Given the description of an element on the screen output the (x, y) to click on. 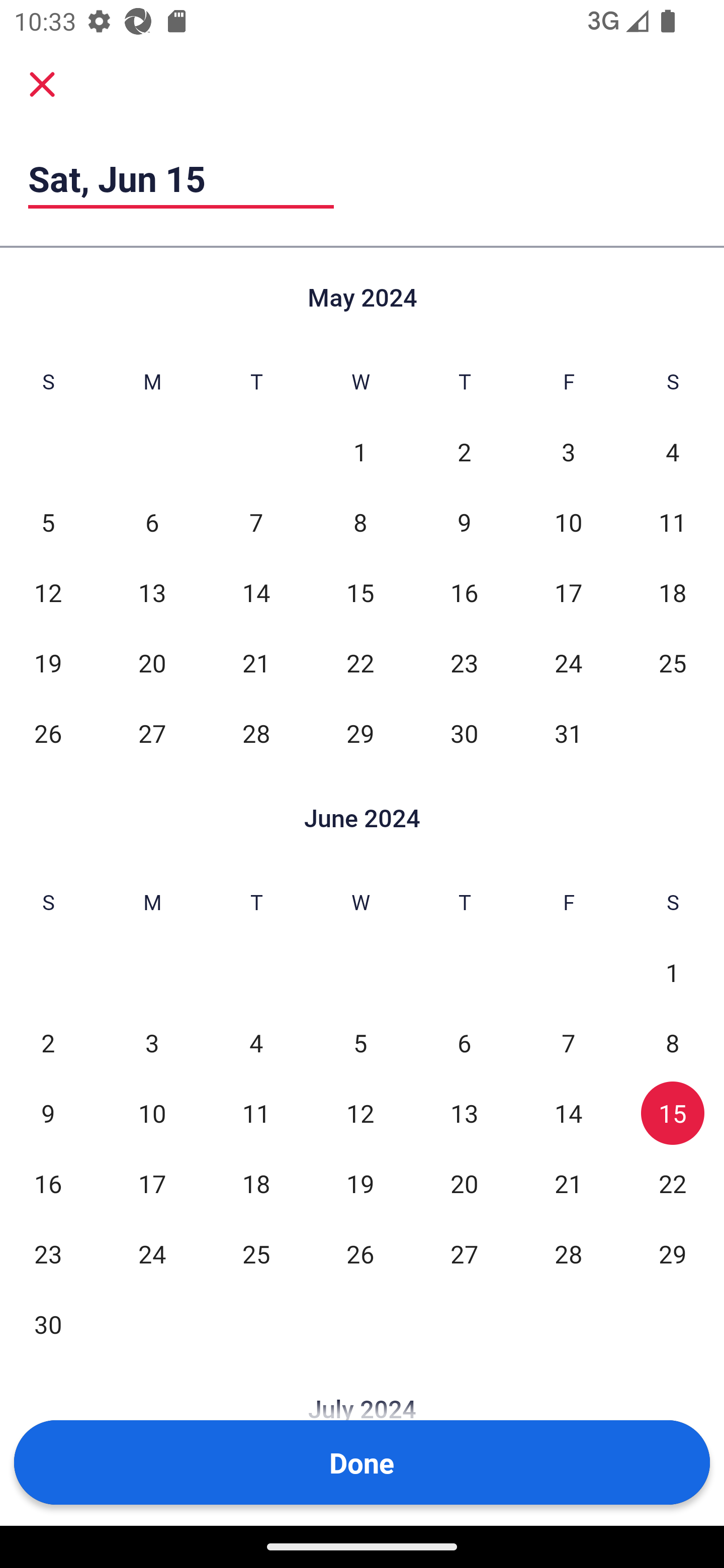
Cancel (41, 83)
Sat, Jun 15 (180, 178)
1 Wed, May 1, Not Selected (360, 452)
2 Thu, May 2, Not Selected (464, 452)
3 Fri, May 3, Not Selected (568, 452)
4 Sat, May 4, Not Selected (672, 452)
5 Sun, May 5, Not Selected (48, 521)
6 Mon, May 6, Not Selected (152, 521)
7 Tue, May 7, Not Selected (256, 521)
8 Wed, May 8, Not Selected (360, 521)
9 Thu, May 9, Not Selected (464, 521)
10 Fri, May 10, Not Selected (568, 521)
11 Sat, May 11, Not Selected (672, 521)
12 Sun, May 12, Not Selected (48, 591)
13 Mon, May 13, Not Selected (152, 591)
14 Tue, May 14, Not Selected (256, 591)
15 Wed, May 15, Not Selected (360, 591)
16 Thu, May 16, Not Selected (464, 591)
17 Fri, May 17, Not Selected (568, 591)
18 Sat, May 18, Not Selected (672, 591)
19 Sun, May 19, Not Selected (48, 662)
20 Mon, May 20, Not Selected (152, 662)
21 Tue, May 21, Not Selected (256, 662)
22 Wed, May 22, Not Selected (360, 662)
23 Thu, May 23, Not Selected (464, 662)
24 Fri, May 24, Not Selected (568, 662)
25 Sat, May 25, Not Selected (672, 662)
26 Sun, May 26, Not Selected (48, 732)
27 Mon, May 27, Not Selected (152, 732)
28 Tue, May 28, Not Selected (256, 732)
29 Wed, May 29, Not Selected (360, 732)
30 Thu, May 30, Not Selected (464, 732)
31 Fri, May 31, Not Selected (568, 732)
1 Sat, Jun 1, Not Selected (672, 972)
2 Sun, Jun 2, Not Selected (48, 1043)
3 Mon, Jun 3, Not Selected (152, 1043)
4 Tue, Jun 4, Not Selected (256, 1043)
5 Wed, Jun 5, Not Selected (360, 1043)
6 Thu, Jun 6, Not Selected (464, 1043)
7 Fri, Jun 7, Not Selected (568, 1043)
8 Sat, Jun 8, Not Selected (672, 1043)
9 Sun, Jun 9, Not Selected (48, 1112)
10 Mon, Jun 10, Not Selected (152, 1112)
11 Tue, Jun 11, Not Selected (256, 1112)
12 Wed, Jun 12, Not Selected (360, 1112)
13 Thu, Jun 13, Not Selected (464, 1112)
14 Fri, Jun 14, Not Selected (568, 1112)
15 Sat, Jun 15, Selected (672, 1112)
16 Sun, Jun 16, Not Selected (48, 1182)
17 Mon, Jun 17, Not Selected (152, 1182)
18 Tue, Jun 18, Not Selected (256, 1182)
19 Wed, Jun 19, Not Selected (360, 1182)
20 Thu, Jun 20, Not Selected (464, 1182)
21 Fri, Jun 21, Not Selected (568, 1182)
22 Sat, Jun 22, Not Selected (672, 1182)
23 Sun, Jun 23, Not Selected (48, 1253)
24 Mon, Jun 24, Not Selected (152, 1253)
25 Tue, Jun 25, Not Selected (256, 1253)
26 Wed, Jun 26, Not Selected (360, 1253)
27 Thu, Jun 27, Not Selected (464, 1253)
28 Fri, Jun 28, Not Selected (568, 1253)
29 Sat, Jun 29, Not Selected (672, 1253)
30 Sun, Jun 30, Not Selected (48, 1323)
Done Button Done (361, 1462)
